Given the description of an element on the screen output the (x, y) to click on. 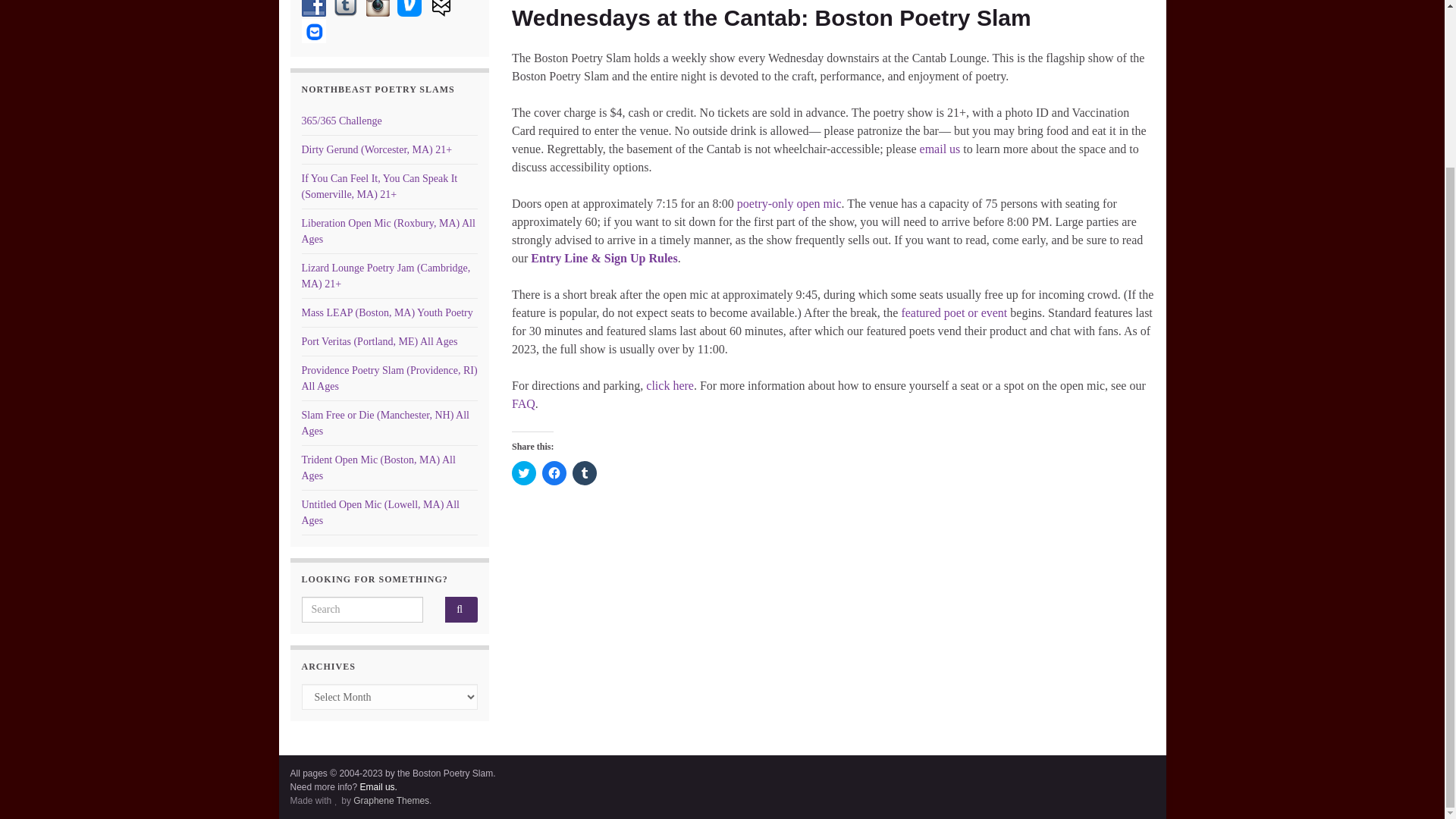
 Current Newsletter! (313, 30)
upcoming shows at the Cantab (954, 312)
Open mic second Friday of each month. (388, 230)
 Venmo (409, 8)
 Instagram (377, 8)
 Facebook (313, 8)
Click to share on Facebook (553, 473)
The daily writing blog run by the Cantab Open Mic community. (341, 120)
Click to share on Tumblr (584, 473)
 Tumblr (345, 8)
 Old Newsletter! (440, 8)
Click to share on Twitter (523, 473)
